Given the description of an element on the screen output the (x, y) to click on. 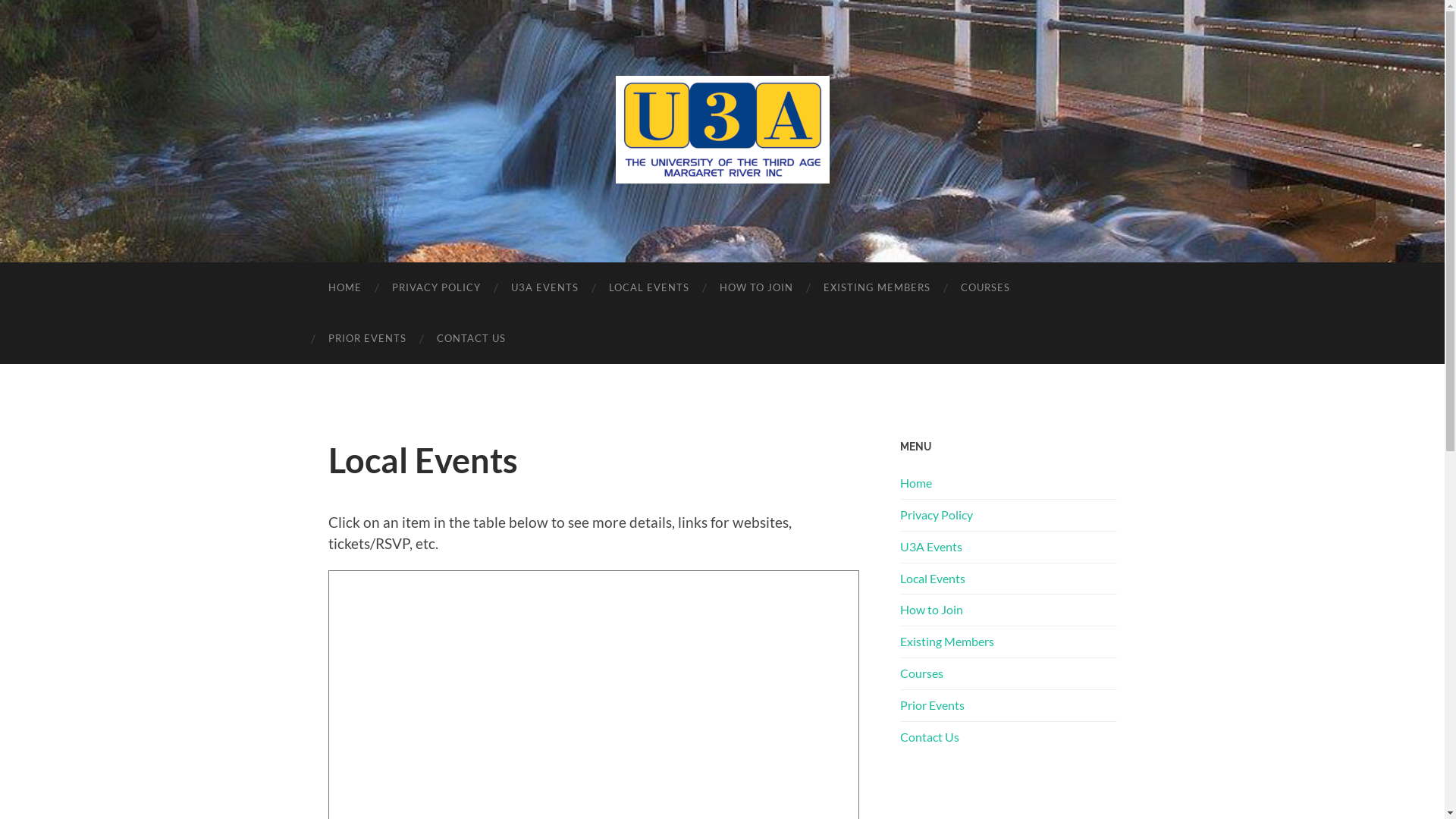
COURSES Element type: text (984, 287)
HOME Element type: text (344, 287)
Privacy Policy Element type: text (935, 514)
EXISTING MEMBERS Element type: text (876, 287)
LOCAL EVENTS Element type: text (648, 287)
Contact Us Element type: text (928, 736)
Local Events Element type: text (931, 578)
How to Join Element type: text (930, 609)
CONTACT US Element type: text (470, 338)
U3A Events Element type: text (930, 546)
Home Element type: text (915, 482)
PRIOR EVENTS Element type: text (366, 338)
U3A EVENTS Element type: text (544, 287)
U3A Margaret River Element type: text (722, 129)
Courses Element type: text (920, 672)
HOW TO JOIN Element type: text (755, 287)
Existing Members Element type: text (946, 640)
Prior Events Element type: text (931, 704)
PRIVACY POLICY Element type: text (435, 287)
